Given the description of an element on the screen output the (x, y) to click on. 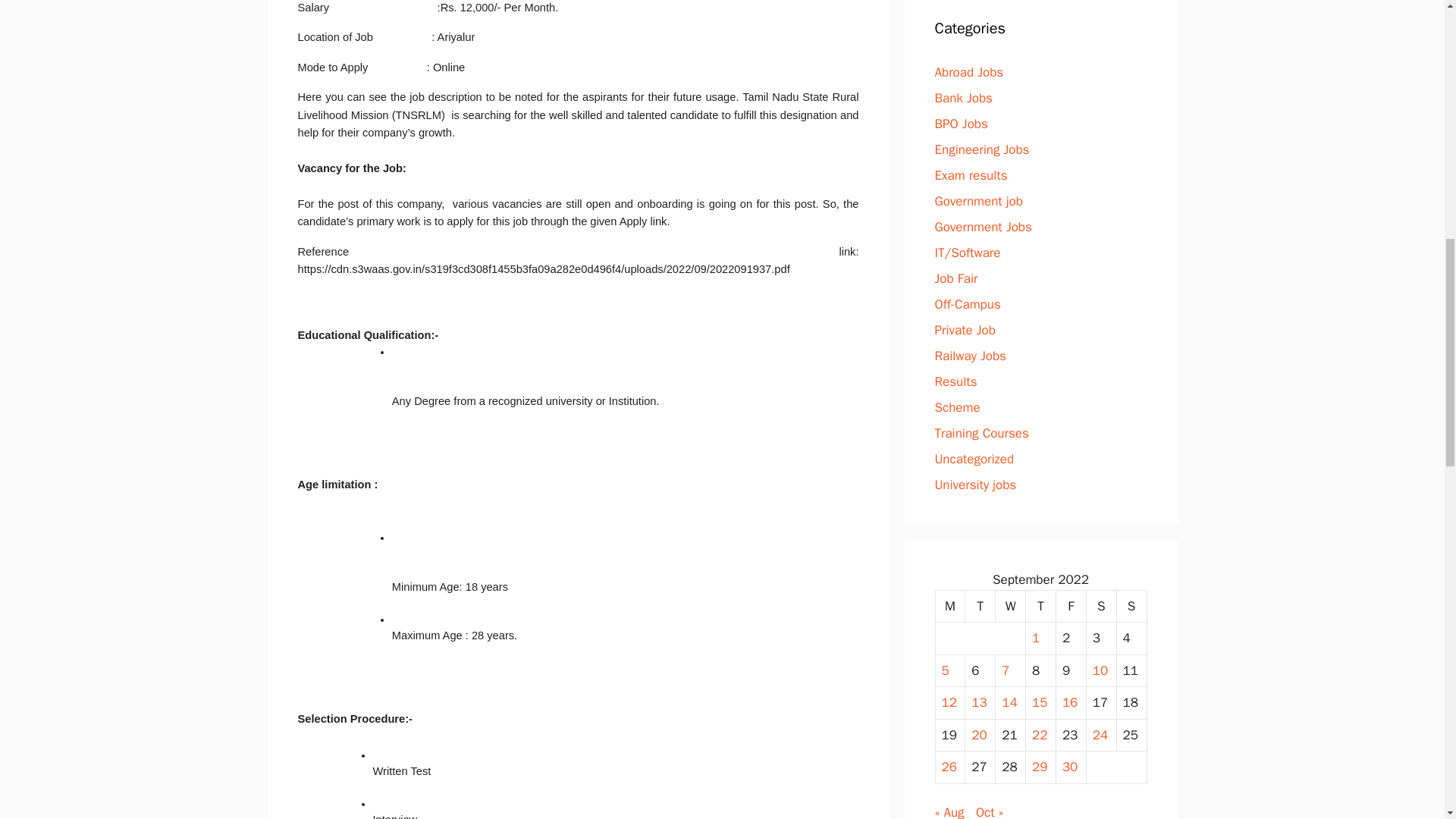
Wednesday (1010, 605)
Government Jobs (982, 226)
Exam results (970, 174)
BPO Jobs (960, 123)
Government job (978, 200)
Abroad Jobs (968, 71)
Engineering Jobs (981, 148)
Saturday (1101, 605)
Sunday (1131, 605)
Tuesday (980, 605)
Friday (1071, 605)
Bank Jobs (962, 97)
Monday (951, 605)
Job Fair (955, 277)
Thursday (1041, 605)
